Given the description of an element on the screen output the (x, y) to click on. 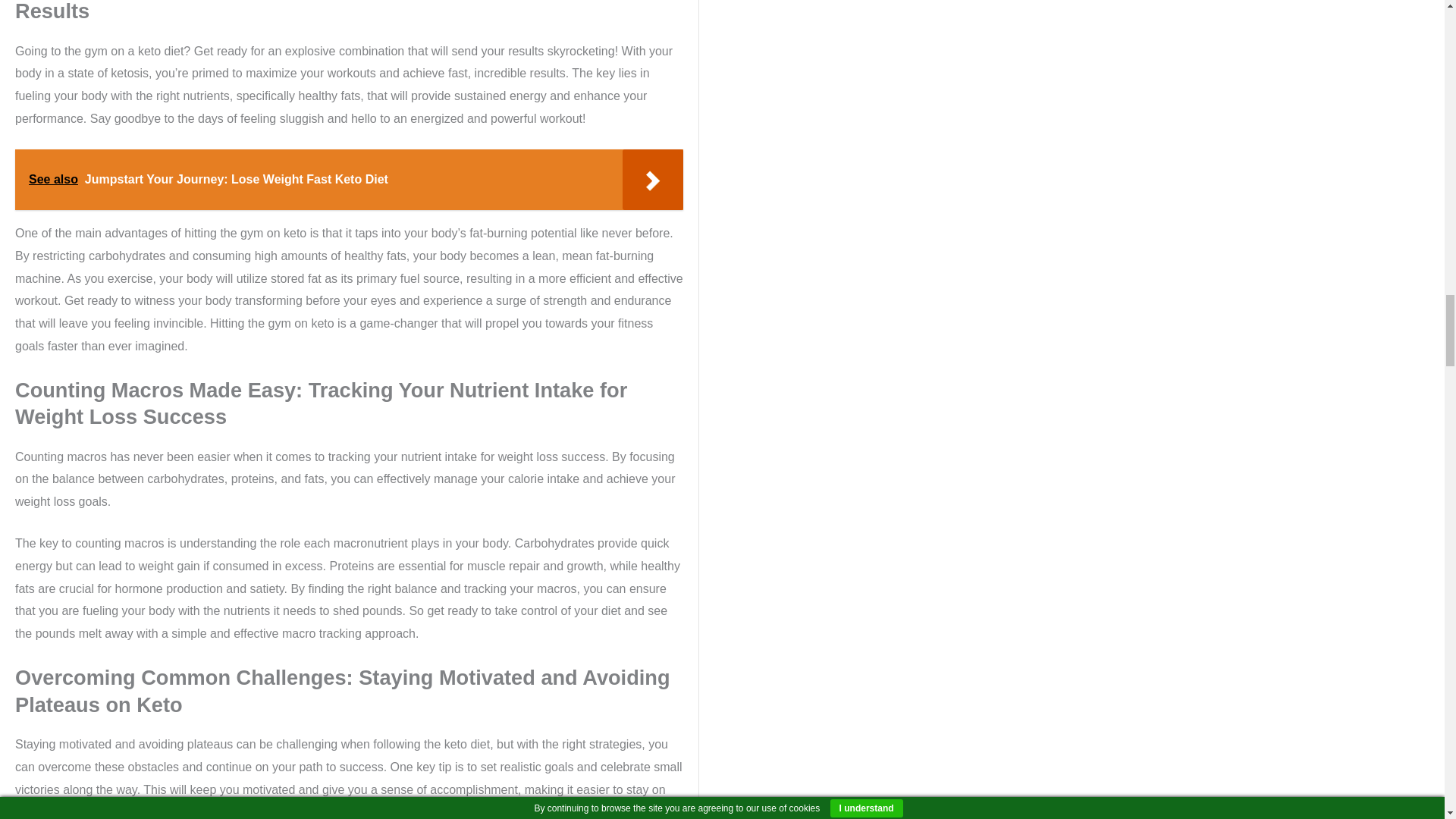
See also  Jumpstart Your Journey: Lose Weight Fast Keto Diet (348, 179)
